Given the description of an element on the screen output the (x, y) to click on. 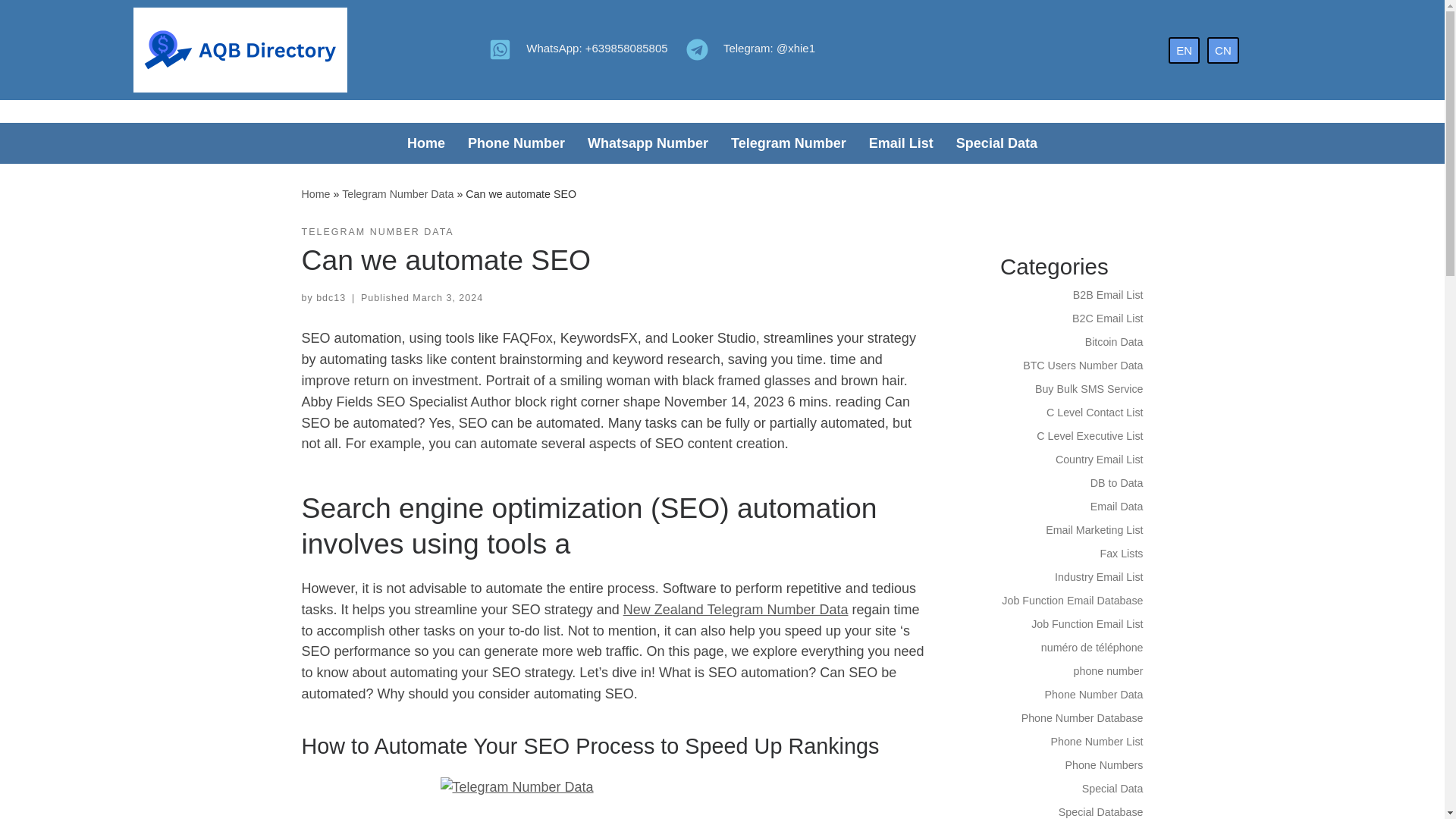
5:01 am (447, 297)
March 3, 2024 (447, 297)
Home (315, 193)
Phone Number (516, 143)
EN (1184, 49)
Special Data (996, 143)
Home (426, 143)
View all posts in Telegram Number Data (377, 232)
Telegram Number (788, 143)
Telegram Number Data (397, 193)
Email List (900, 143)
View all posts by bdc13 (330, 297)
CN (1223, 49)
TELEGRAM NUMBER DATA (377, 232)
New Zealand Telegram Number Data (735, 609)
